Given the description of an element on the screen output the (x, y) to click on. 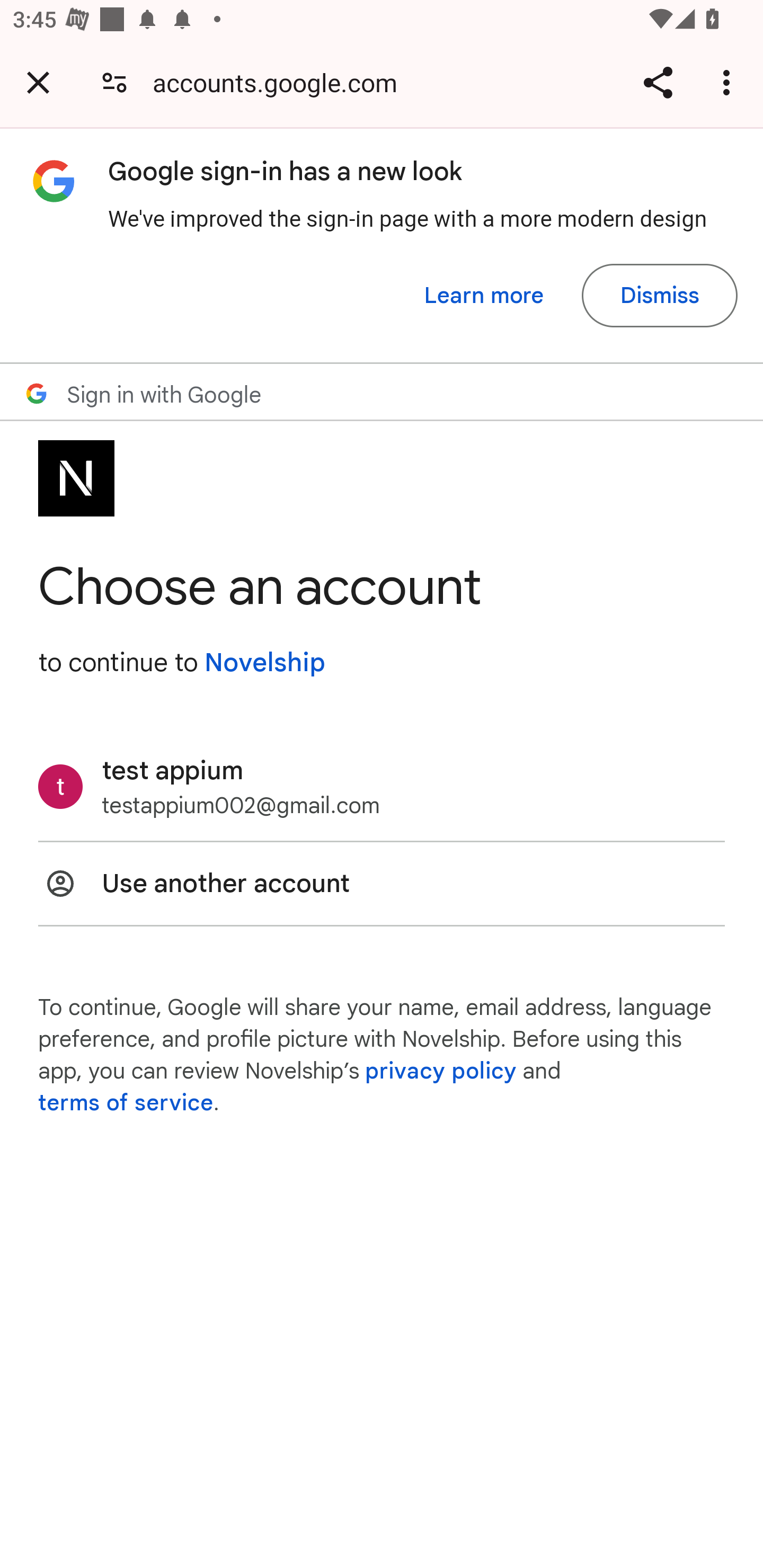
Close tab (38, 82)
Share (657, 82)
Customize and control Google Chrome (729, 82)
Connection is secure (114, 81)
accounts.google.com (281, 81)
Learn more (483, 295)
Dismiss (659, 295)
Novelship (264, 662)
Use another account (381, 883)
privacy policy (440, 1070)
terms of service (126, 1102)
